Given the description of an element on the screen output the (x, y) to click on. 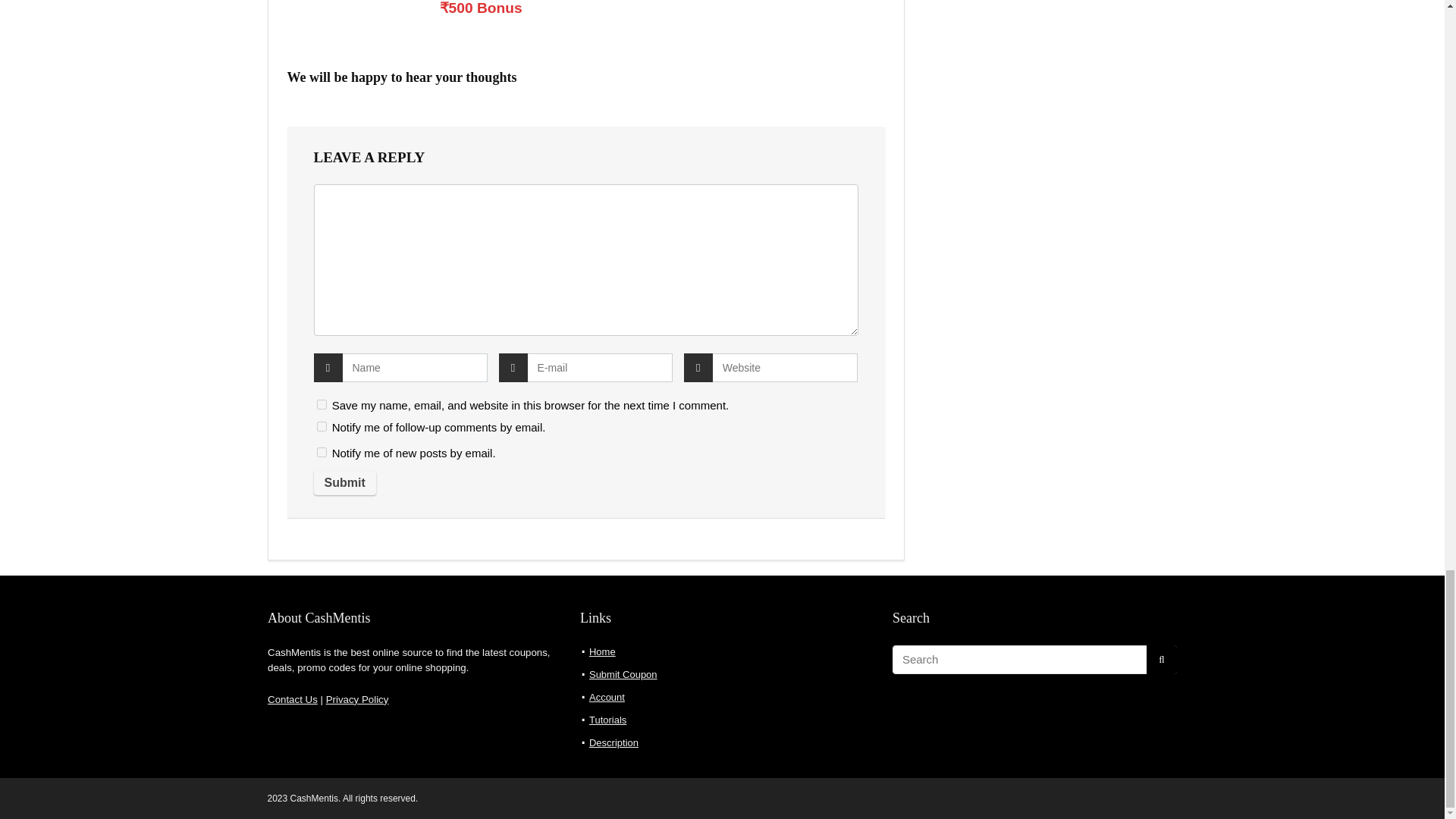
Submit (344, 482)
subscribe (321, 426)
yes (321, 404)
subscribe (321, 452)
Submit (344, 482)
